Given the description of an element on the screen output the (x, y) to click on. 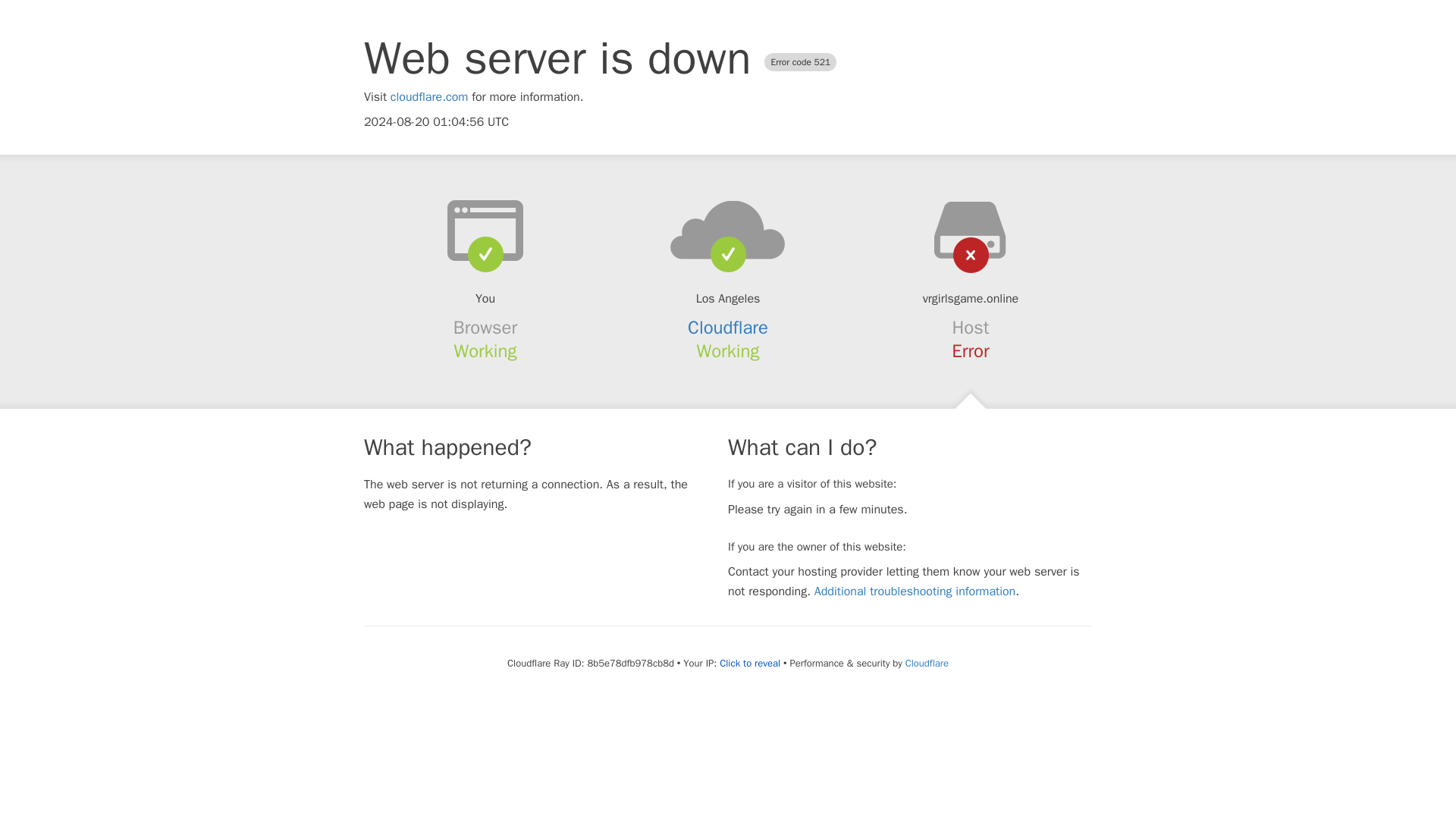
cloudflare.com (429, 96)
Click to reveal (749, 663)
Additional troubleshooting information (913, 590)
Cloudflare (927, 662)
Cloudflare (727, 327)
